Given the description of an element on the screen output the (x, y) to click on. 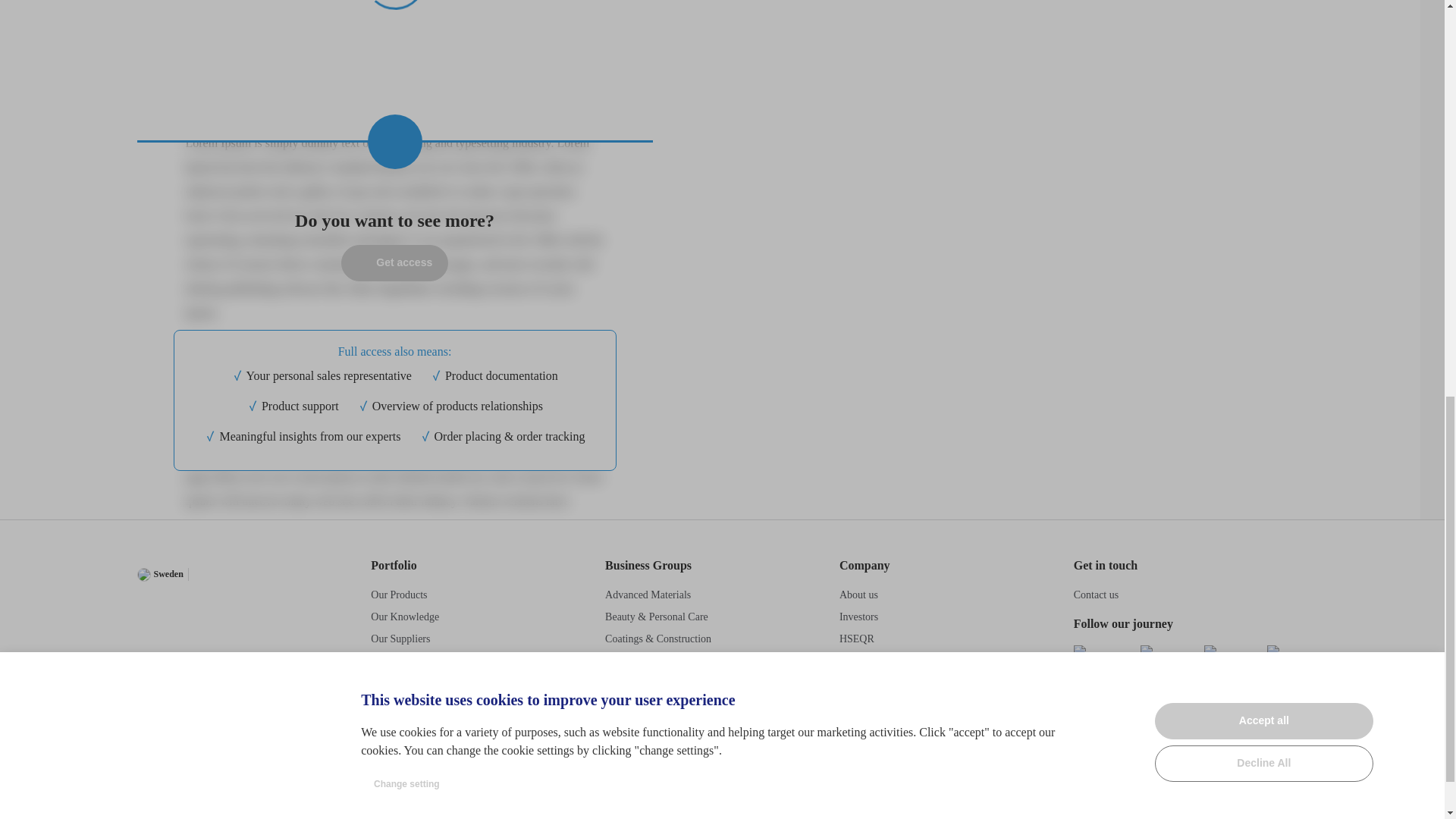
Sweden (159, 573)
Open Dropdown (226, 574)
Get access (394, 262)
